Given the description of an element on the screen output the (x, y) to click on. 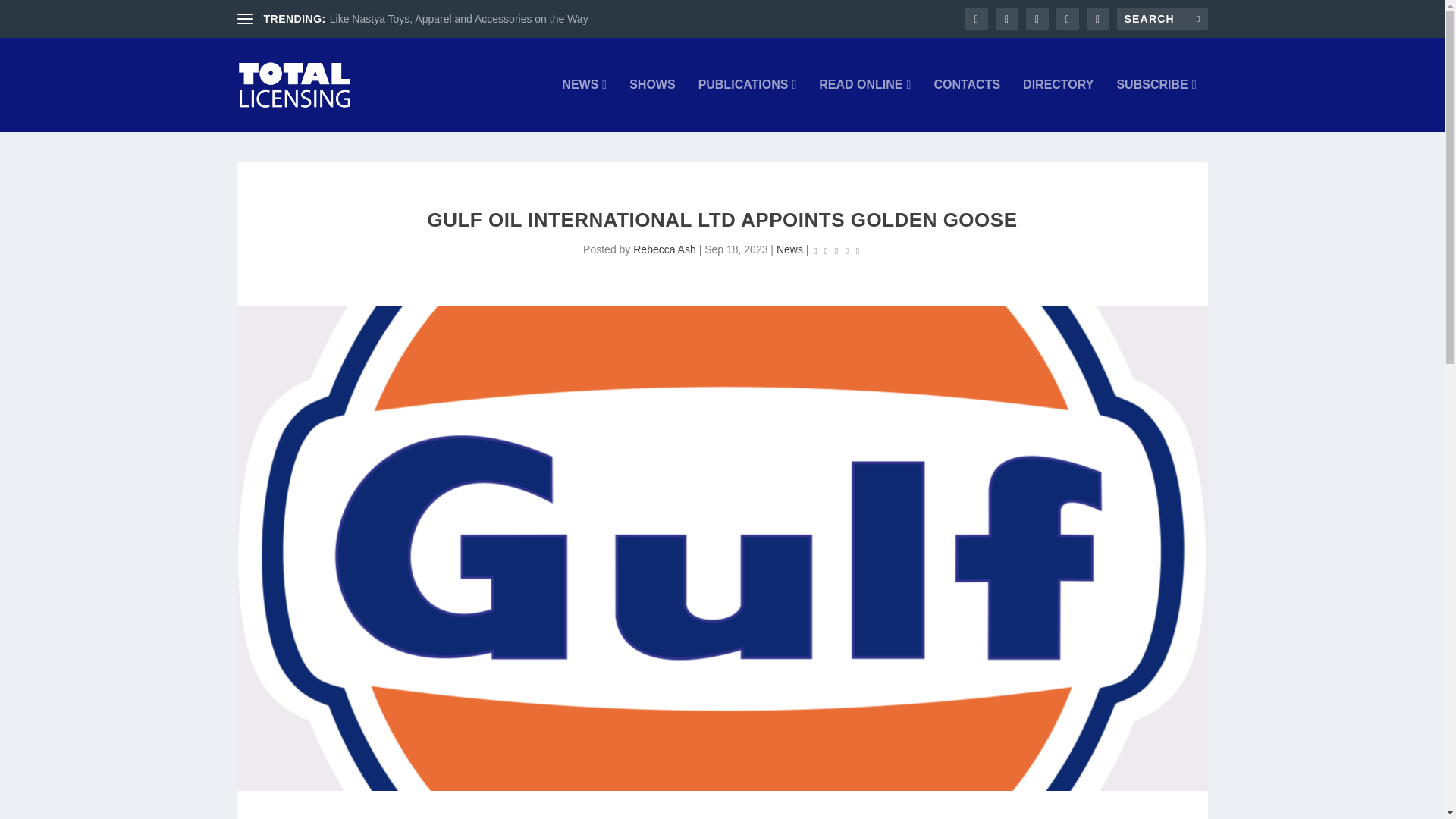
PUBLICATIONS (747, 104)
Search for: (1161, 18)
Like Nastya Toys, Apparel and Accessories on the Way (459, 19)
